Given the description of an element on the screen output the (x, y) to click on. 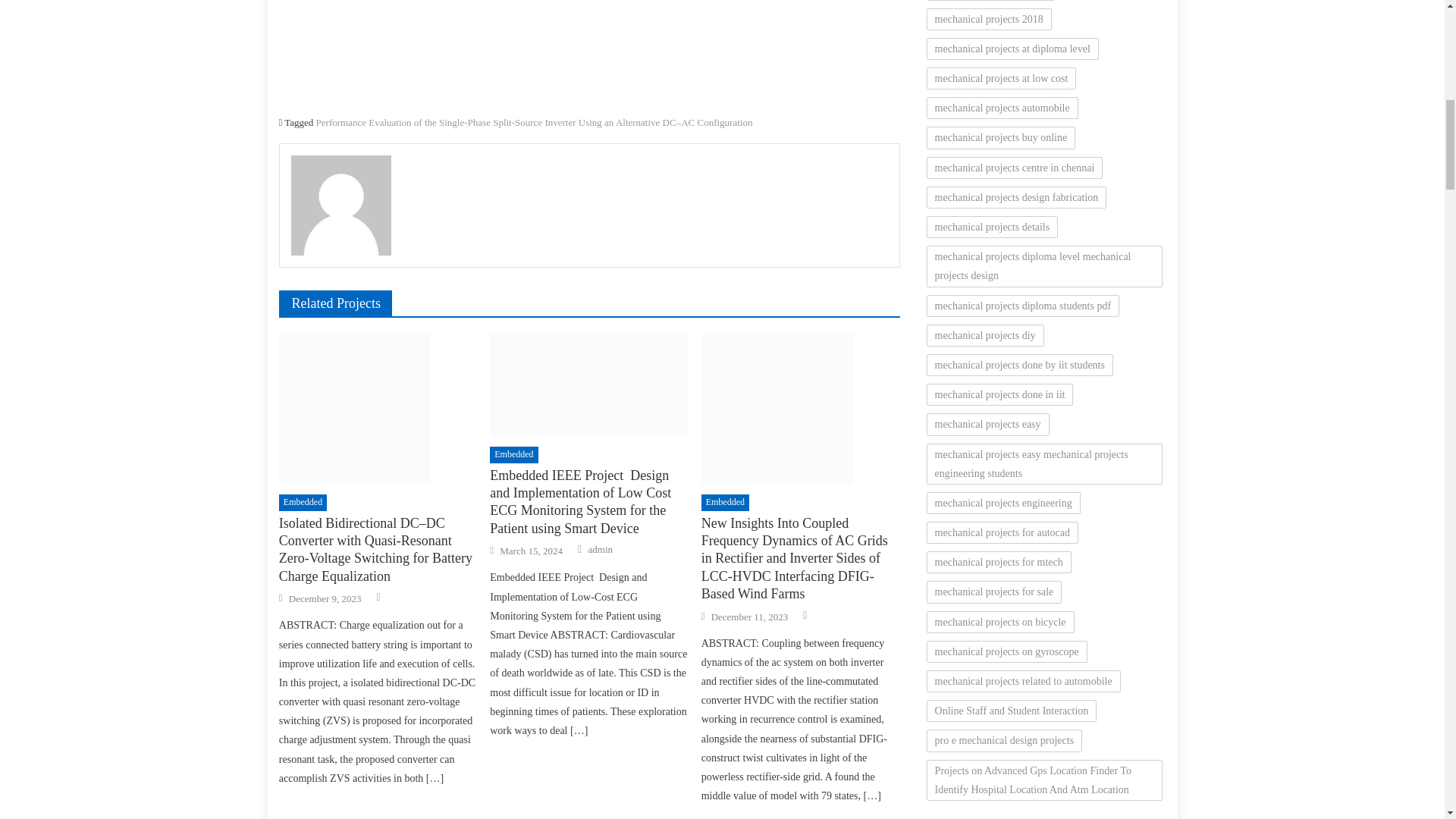
Advertisement (589, 52)
